Given the description of an element on the screen output the (x, y) to click on. 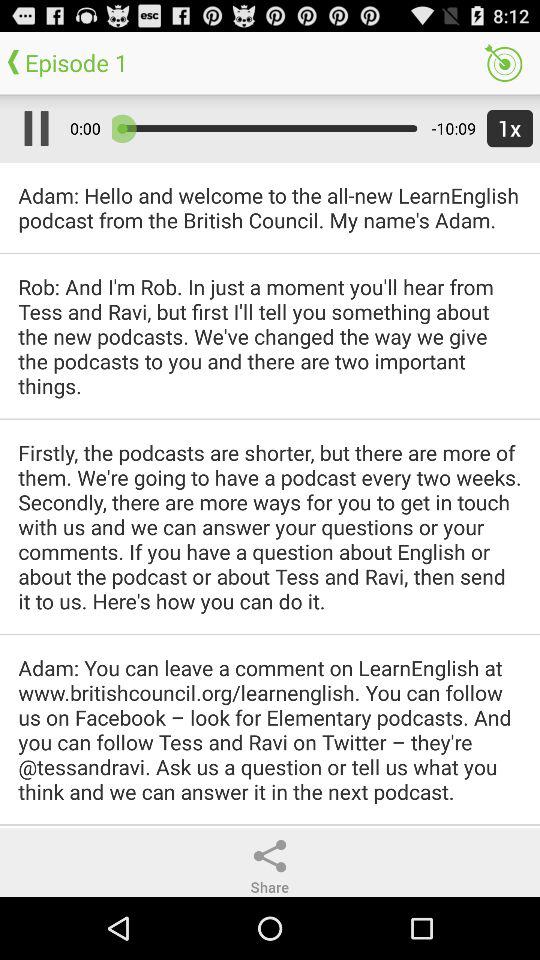
choose the app next to the -10:09 app (506, 128)
